Given the description of an element on the screen output the (x, y) to click on. 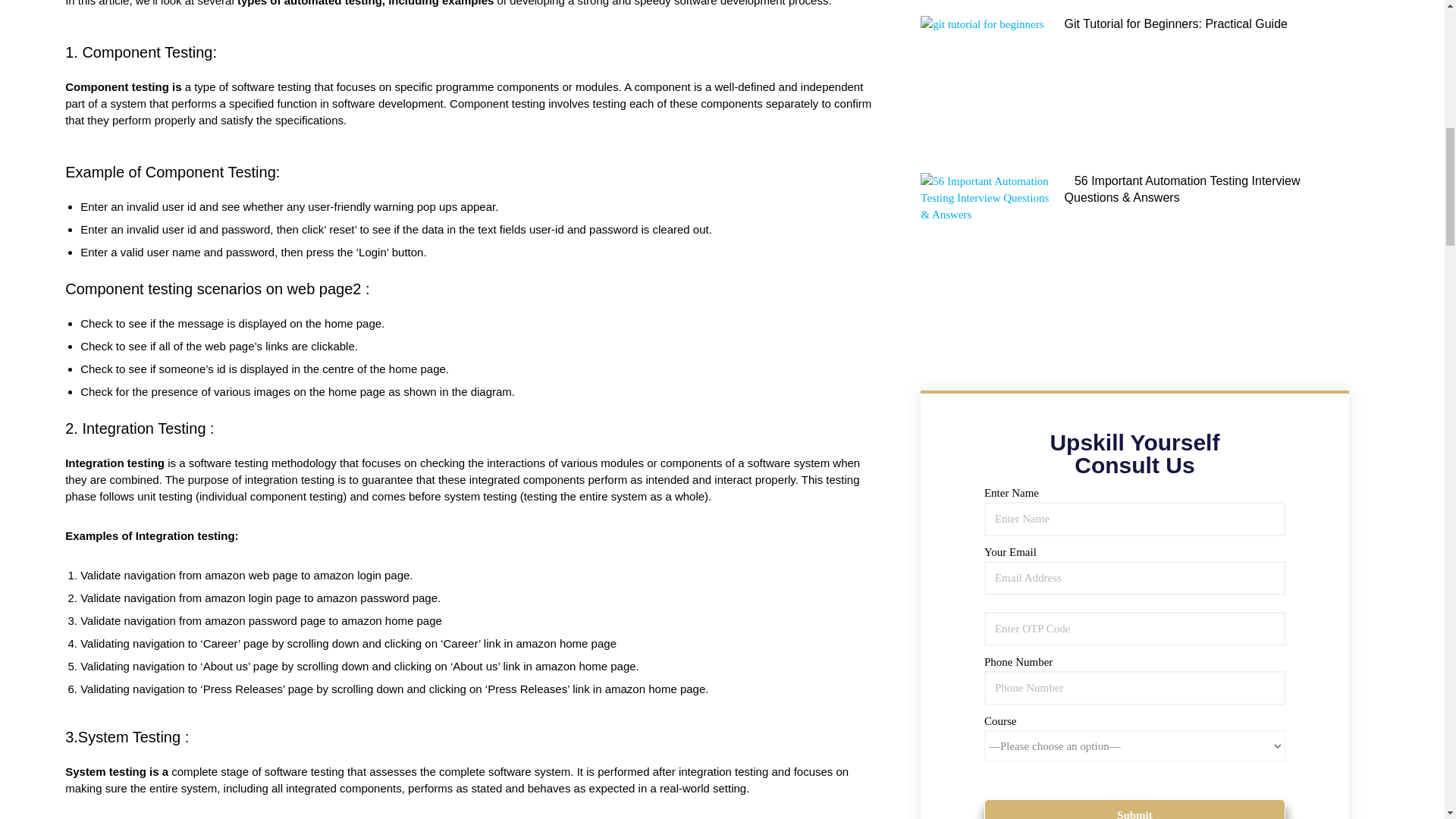
Submit (1134, 809)
